Given the description of an element on the screen output the (x, y) to click on. 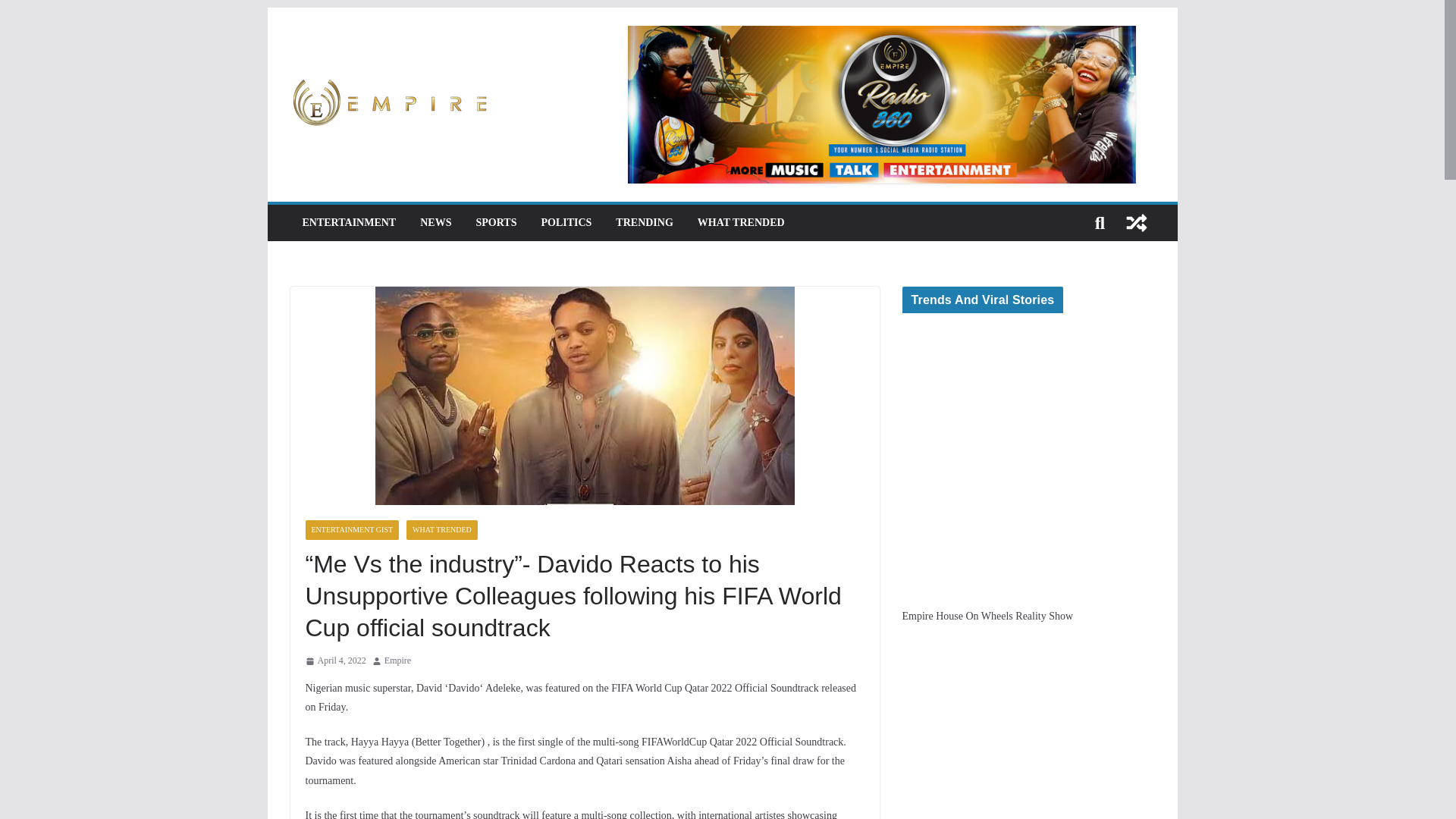
WHAT TRENDED (740, 222)
10:54 am (334, 660)
ENTERTAINMENT GIST (351, 529)
View a random post (1136, 222)
POLITICS (565, 222)
Empire (397, 660)
TRENDING (643, 222)
ENTERTAINMENT (348, 222)
Empire (397, 660)
SPORTS (496, 222)
NEWS (435, 222)
WHAT TRENDED (441, 529)
April 4, 2022 (334, 660)
